Given the description of an element on the screen output the (x, y) to click on. 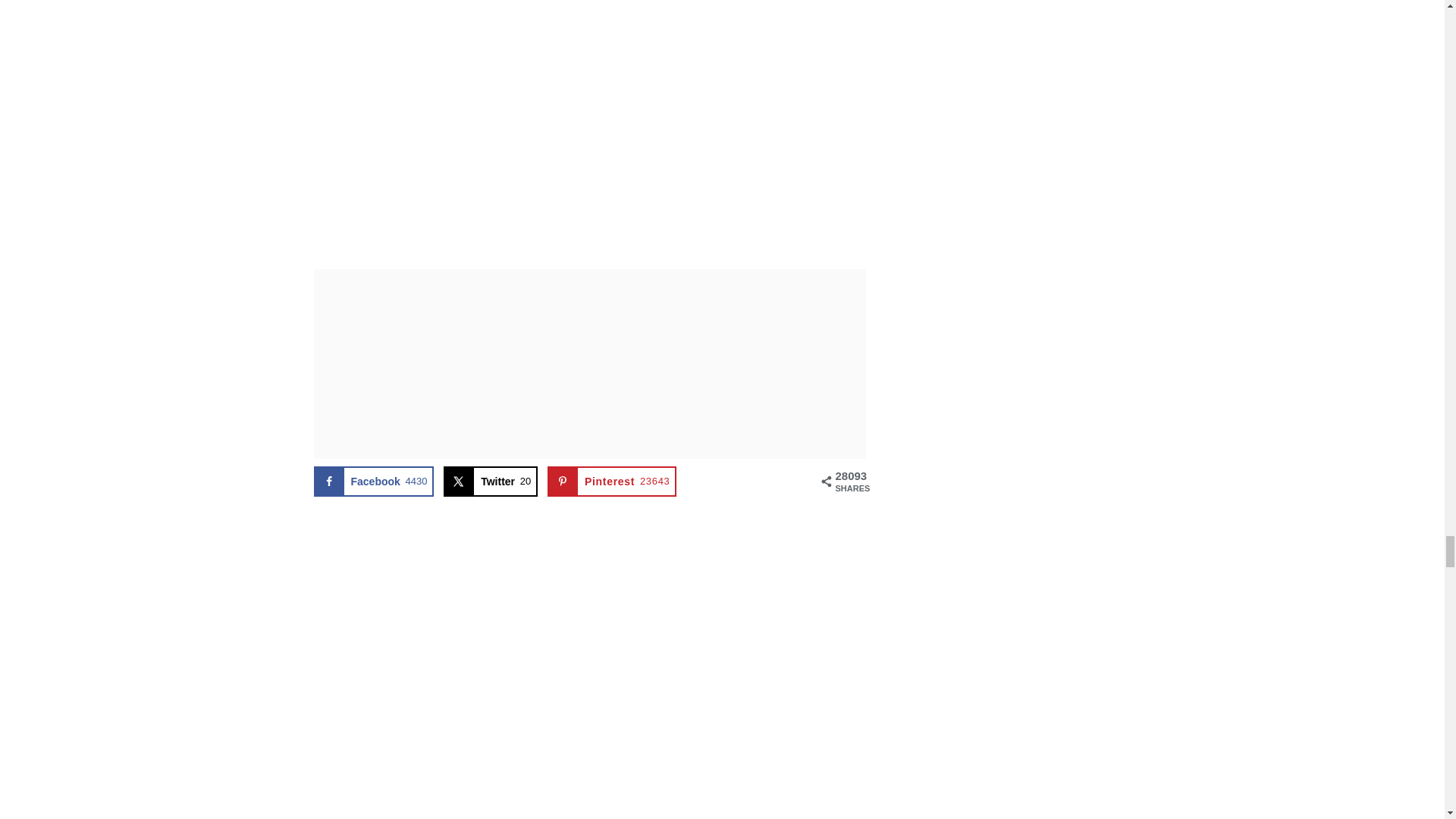
Share on Facebook (373, 481)
Save to Pinterest (612, 481)
Share on X (490, 481)
